Given the description of an element on the screen output the (x, y) to click on. 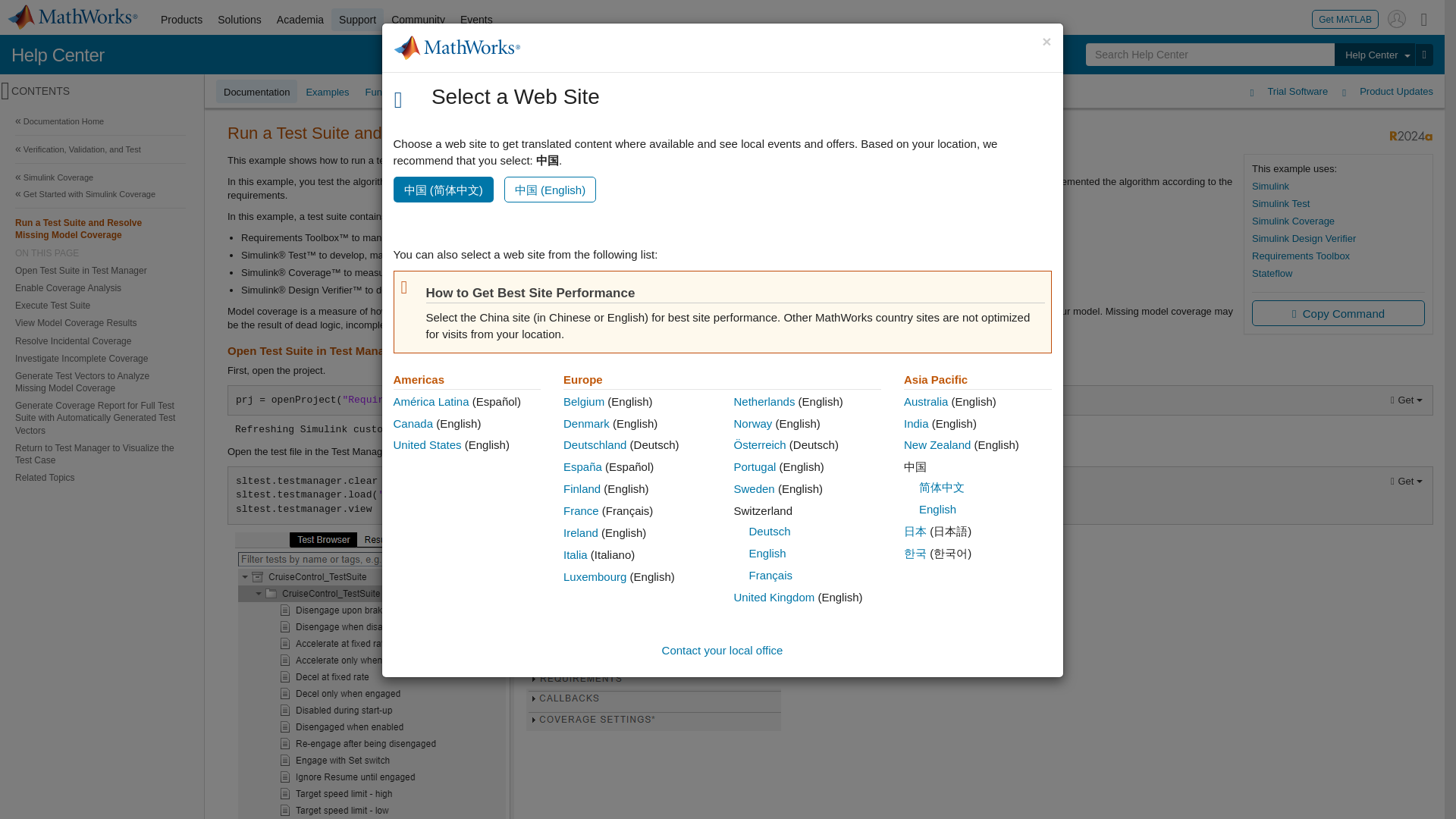
Support (357, 19)
Products (180, 19)
Solutions (239, 19)
ON THIS PAGE (100, 253)
Matrix Menu (1423, 18)
Community (418, 19)
Events (476, 19)
Get MATLAB (1344, 18)
Academia (300, 19)
Sign In to Your MathWorks Account (1396, 18)
Run a Test Suite and Resolve Missing Model Coverage (100, 228)
